Given the description of an element on the screen output the (x, y) to click on. 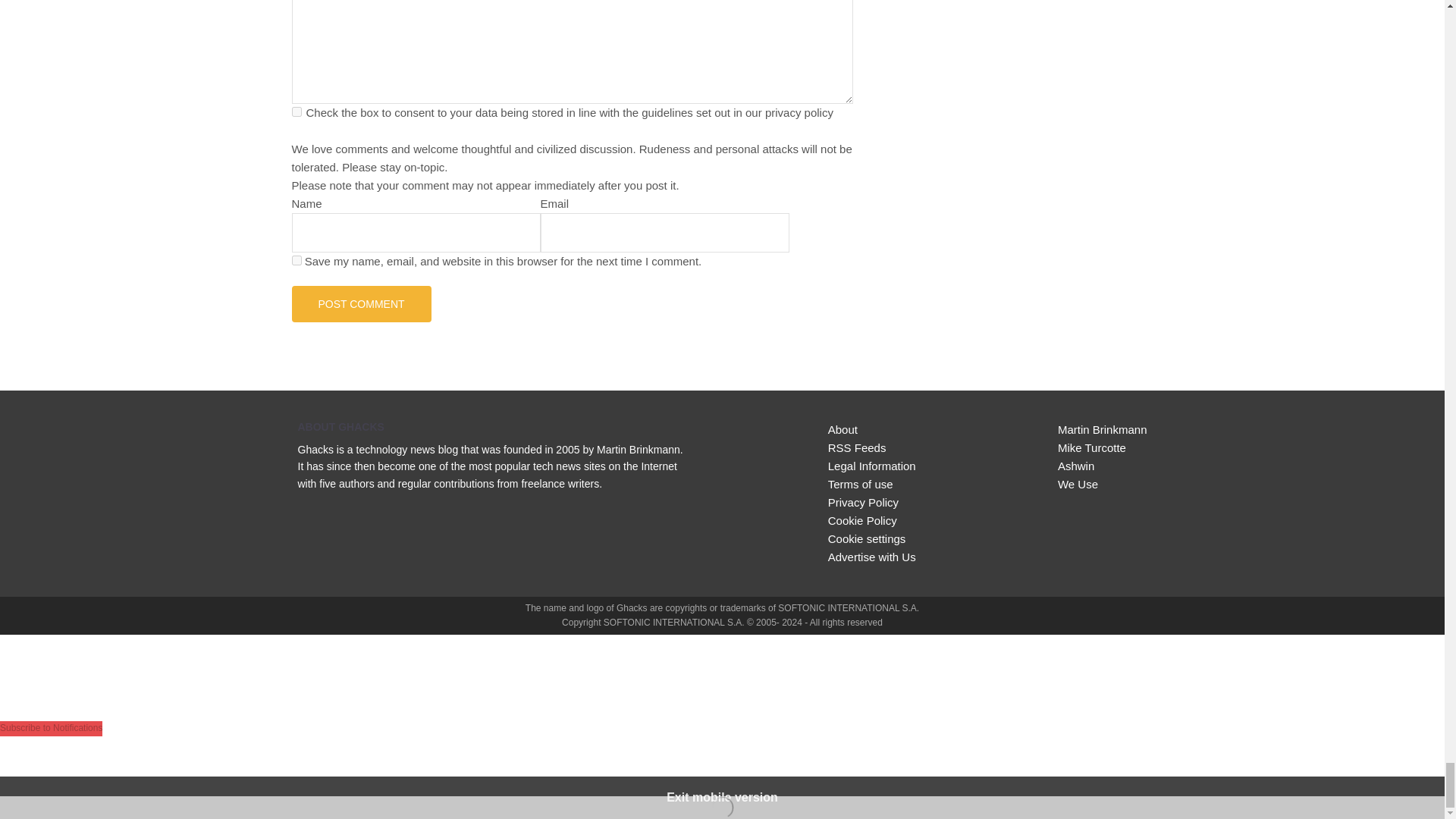
Post Comment (360, 303)
privacy-key (296, 112)
yes (296, 260)
